Given the description of an element on the screen output the (x, y) to click on. 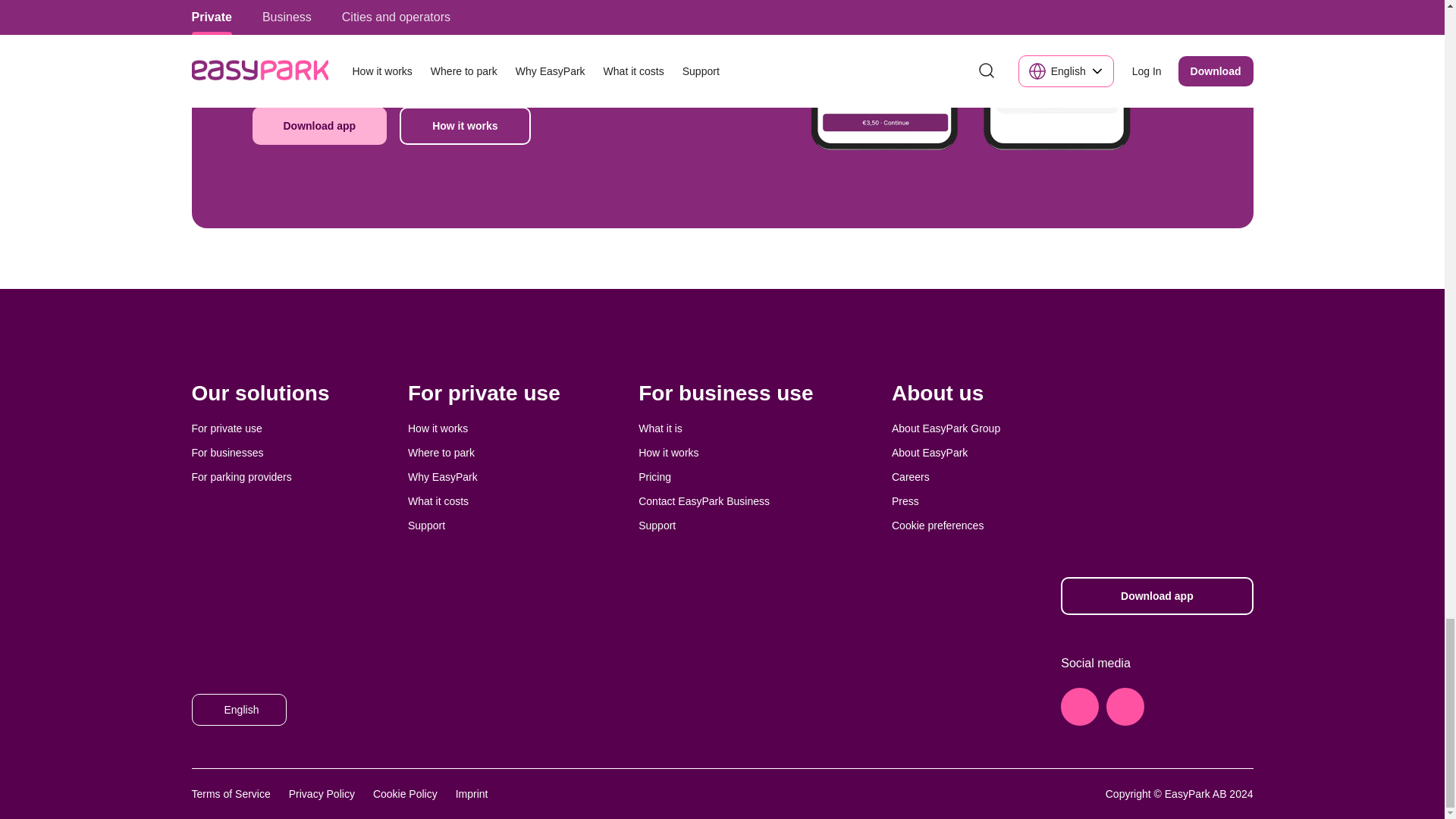
For private use (226, 428)
For parking providers (240, 476)
Why EasyPark (442, 476)
Support (426, 525)
Support (657, 525)
Pricing (655, 476)
Where to park (440, 452)
What it is (660, 428)
What it costs (437, 500)
Careers (910, 476)
For businesses (226, 452)
How it works (668, 452)
Press (904, 500)
About EasyPark (929, 452)
About EasyPark Group (945, 428)
